Given the description of an element on the screen output the (x, y) to click on. 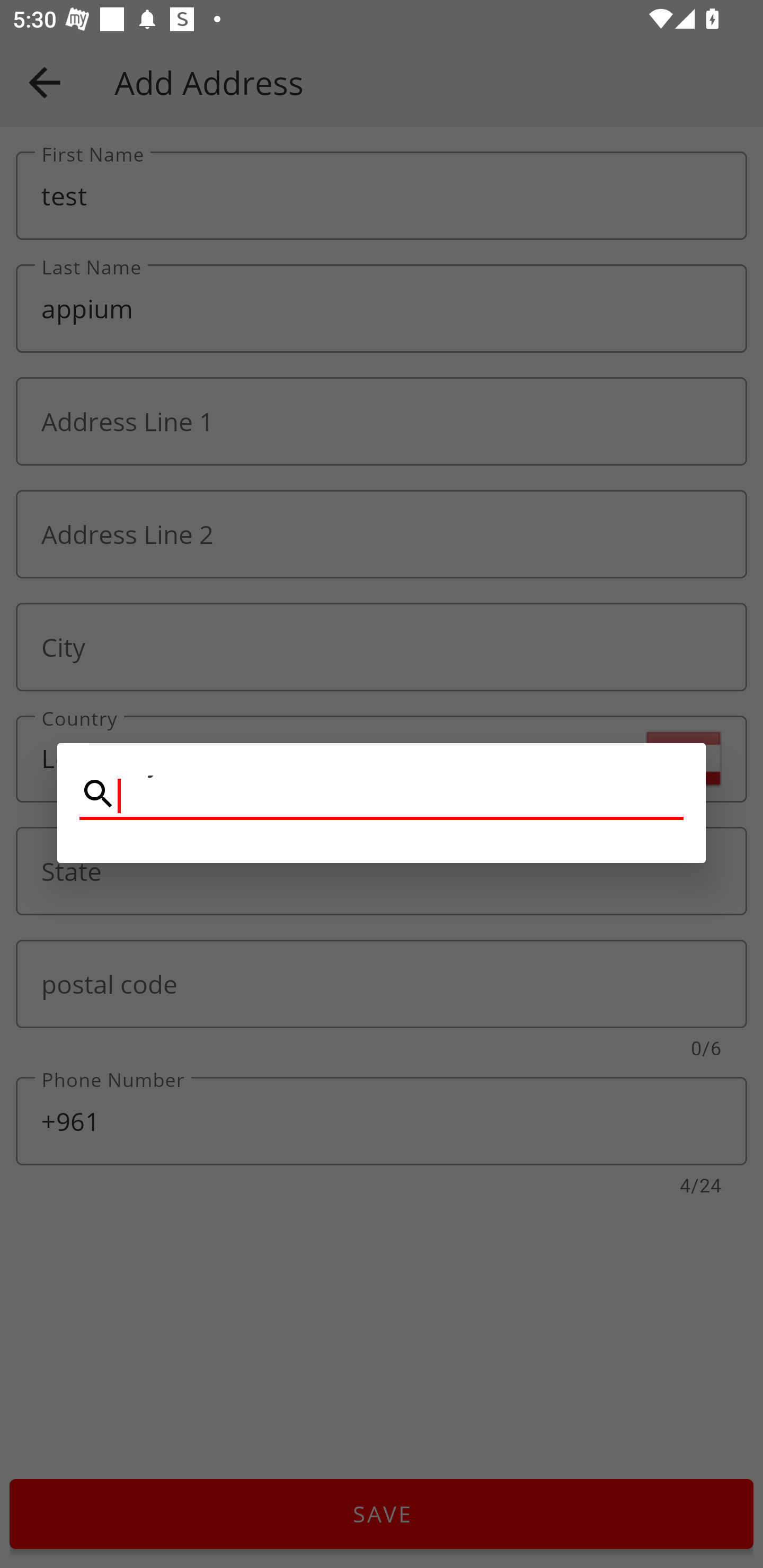
keyboard
 (381, 794)
